Given the description of an element on the screen output the (x, y) to click on. 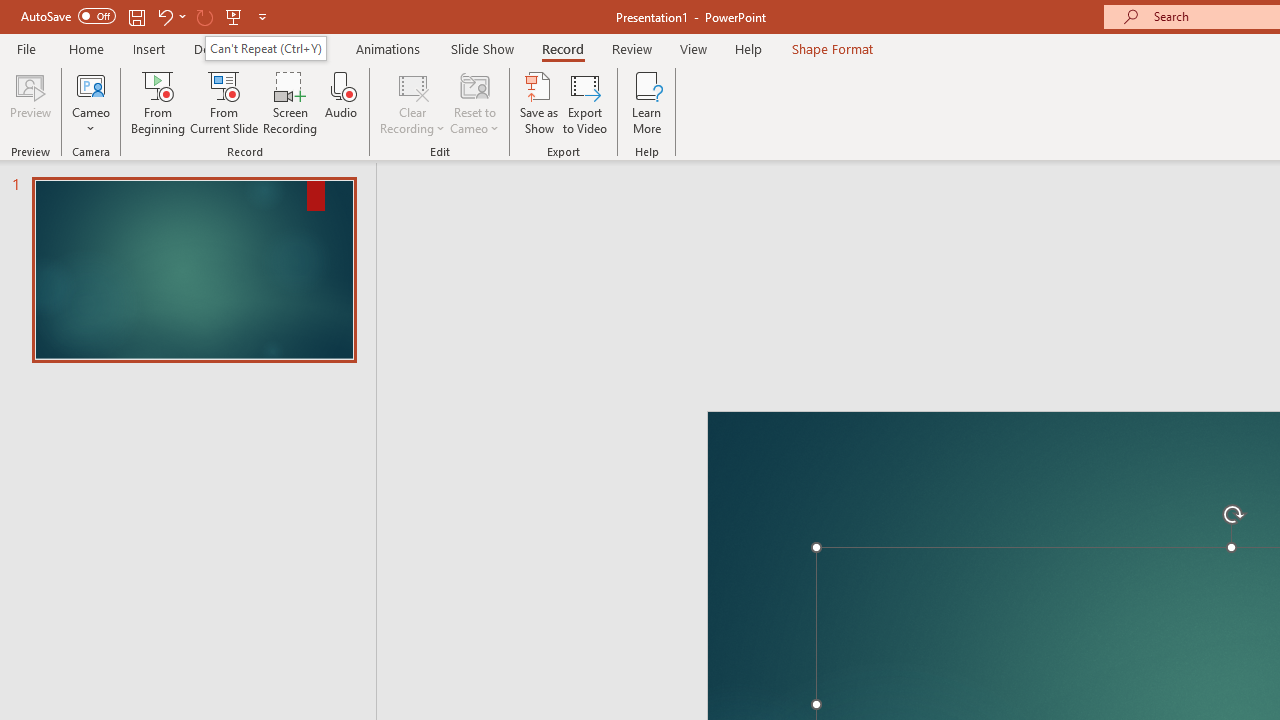
Reset to Cameo (474, 102)
Export to Video (585, 102)
Can't Repeat (Ctrl+Y) (265, 48)
